Given the description of an element on the screen output the (x, y) to click on. 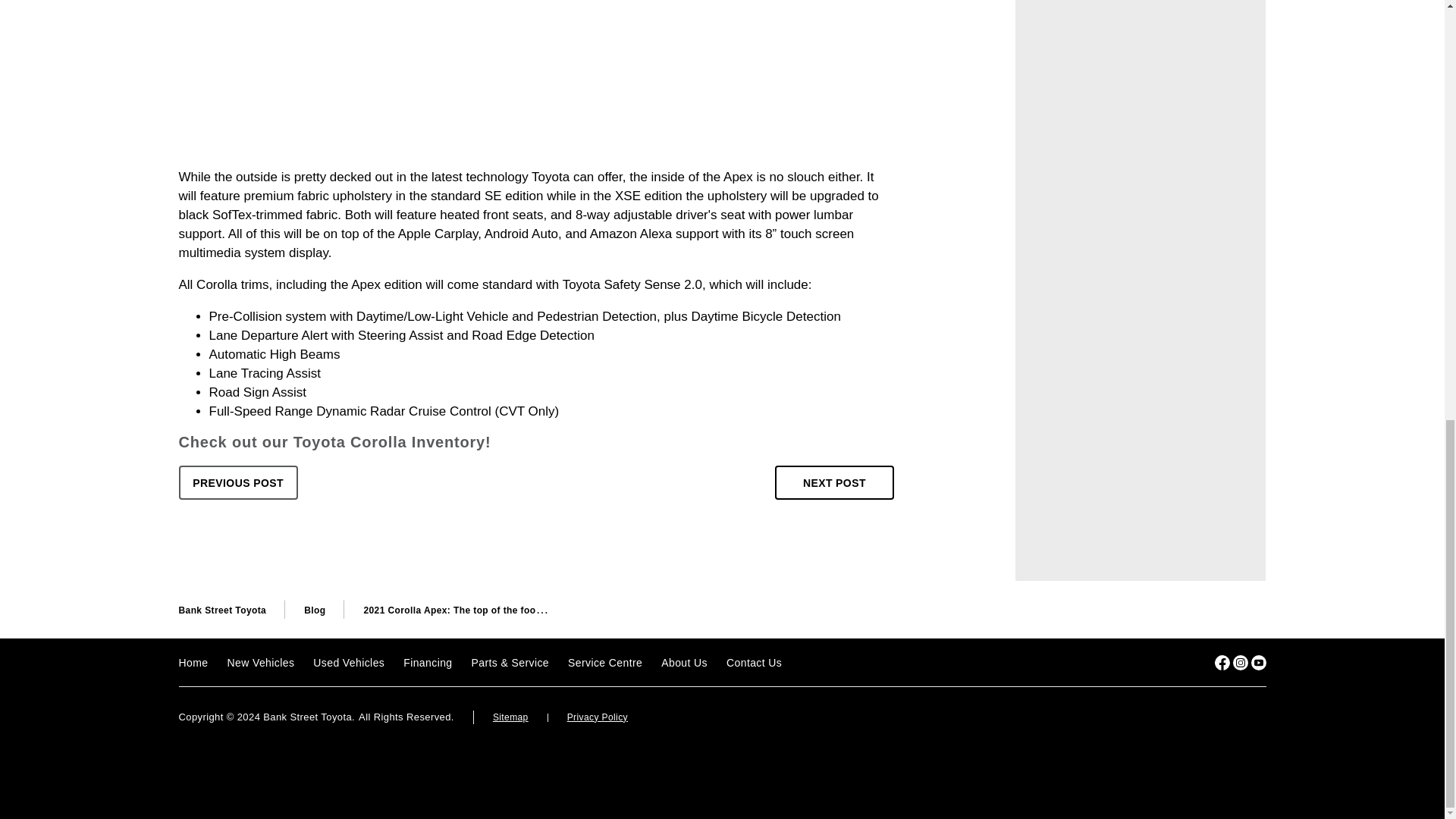
Go to Bank Street Toyota. (222, 610)
Powered by EDealer (1235, 717)
Go to the Blog category archives. (314, 610)
